Given the description of an element on the screen output the (x, y) to click on. 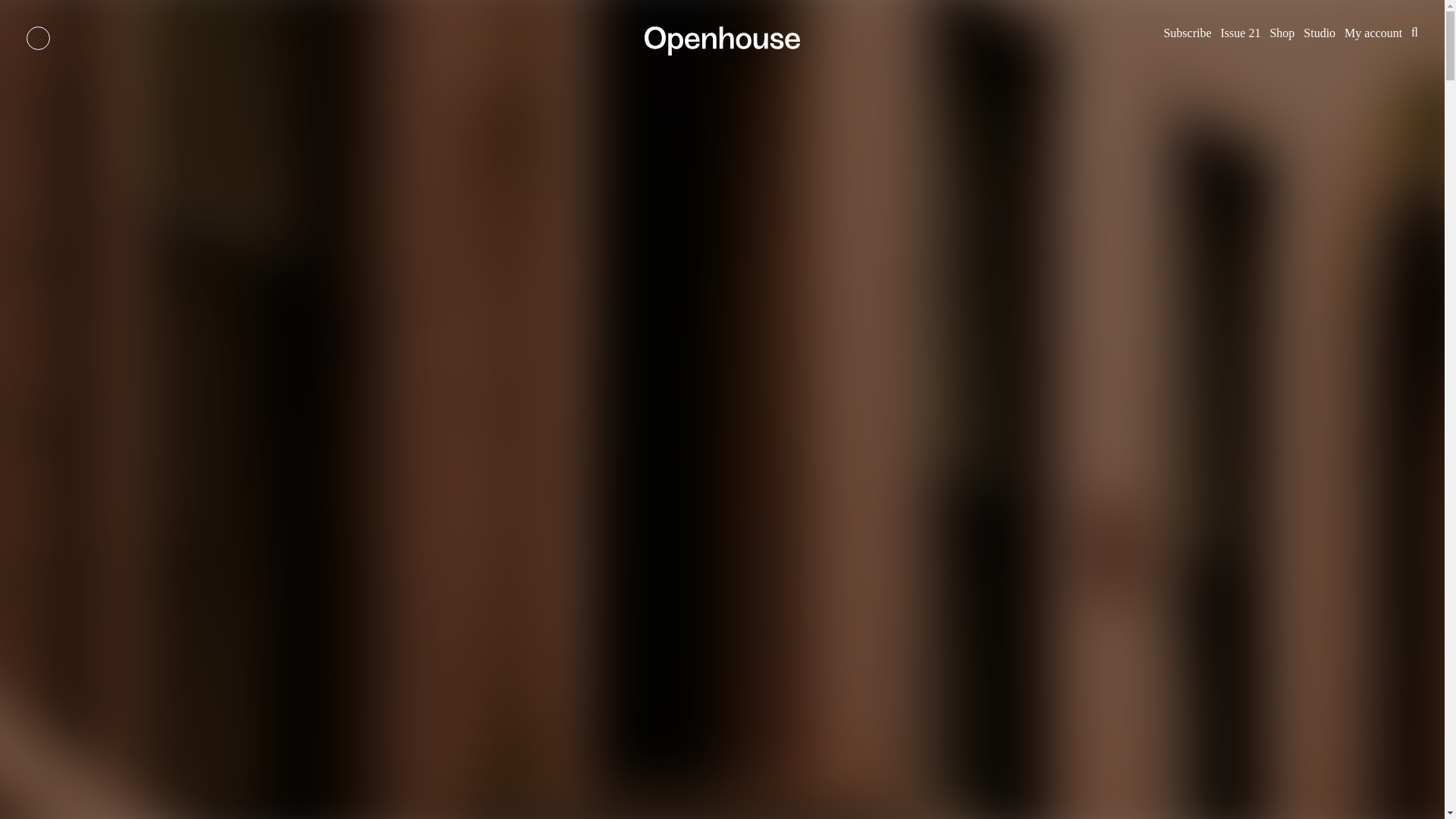
Studio (1319, 32)
Created with Sketch. (722, 51)
Created with Sketch. (722, 41)
Shop (1281, 32)
Issue 21 (1240, 32)
My account (1372, 32)
Subscribe (1187, 32)
